Given the description of an element on the screen output the (x, y) to click on. 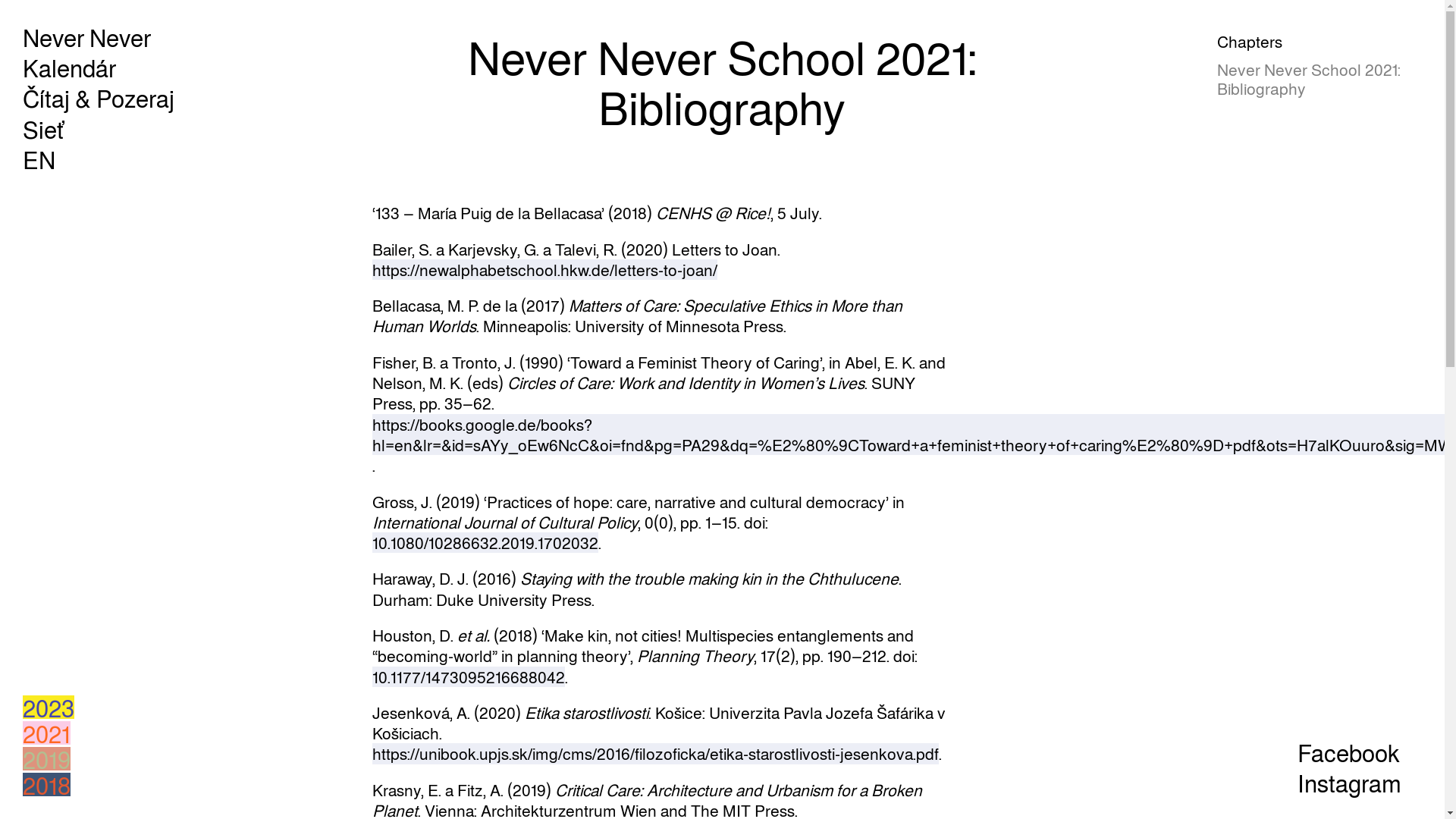
https://newalphabetschool.hkw.de/letters-to-joan/ Element type: text (544, 269)
EN Element type: text (38, 158)
Never Never Element type: text (86, 36)
Never Never School 2021: Bibliography Element type: text (1319, 78)
10.1177/1473095216688042 Element type: text (468, 676)
2023 Element type: text (48, 706)
Instagram Element type: text (1349, 782)
10.1080/10286632.2019.1702032 Element type: text (485, 542)
Facebook Element type: text (1348, 751)
2018 Element type: text (46, 784)
2019 Element type: text (46, 758)
2021 Element type: text (46, 732)
